Given the description of an element on the screen output the (x, y) to click on. 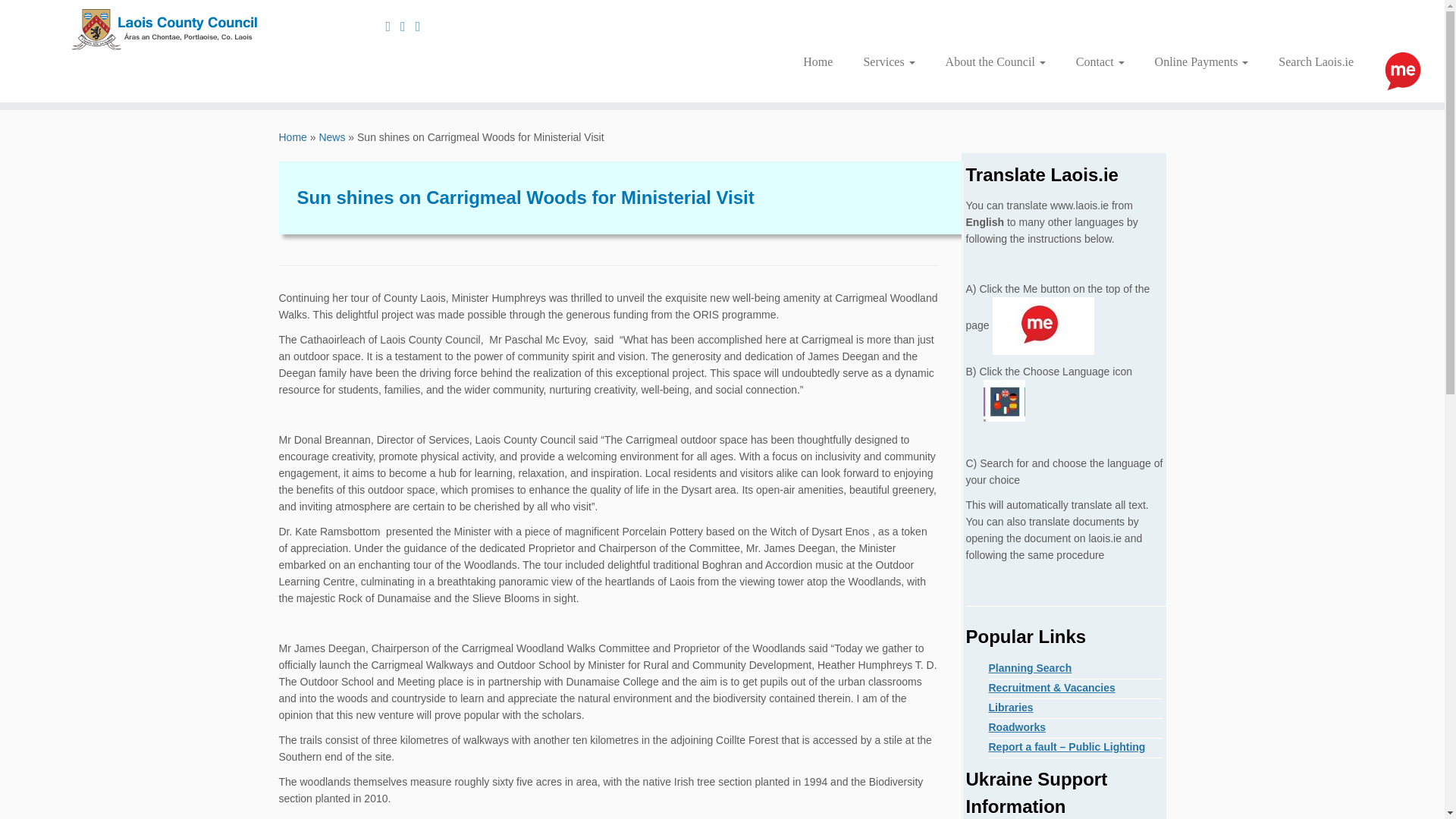
Services (888, 62)
News (331, 137)
Follow me on Facebook (422, 26)
Home (817, 62)
Follow me on Twitter (407, 26)
Laois County Council (293, 137)
E-mail (392, 26)
